Given the description of an element on the screen output the (x, y) to click on. 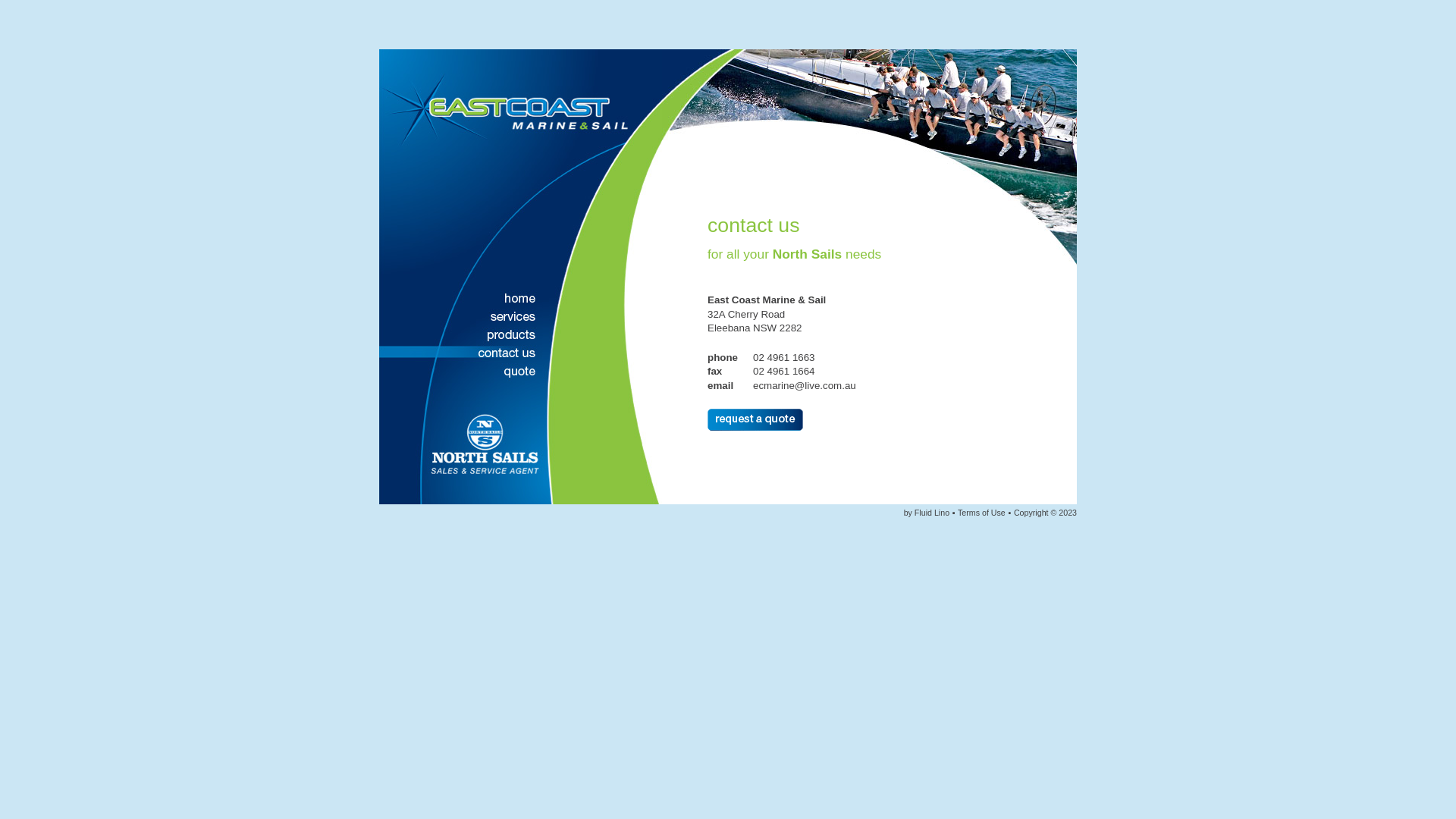
Quote Element type: text (460, 372)
Request A Quote Element type: text (755, 419)
Products Element type: text (460, 335)
ecmarine@live.com.au Element type: text (804, 385)
Fluid Lino Element type: text (931, 512)
Home Element type: text (460, 299)
Terms of Use Element type: text (981, 512)
Contact Element type: text (460, 354)
Services Element type: text (460, 317)
